Given the description of an element on the screen output the (x, y) to click on. 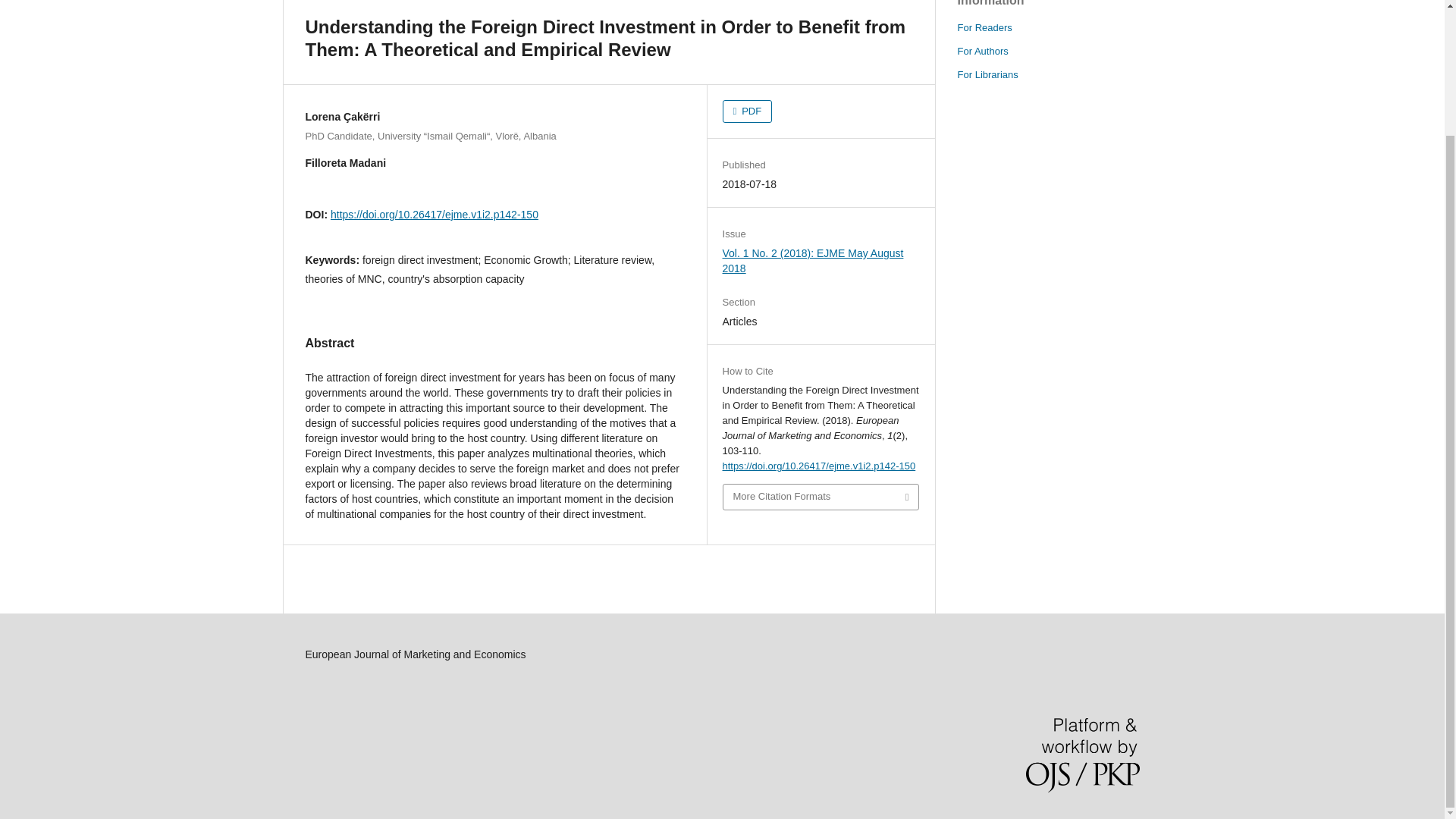
PDF (747, 110)
More Citation Formats (820, 496)
